Given the description of an element on the screen output the (x, y) to click on. 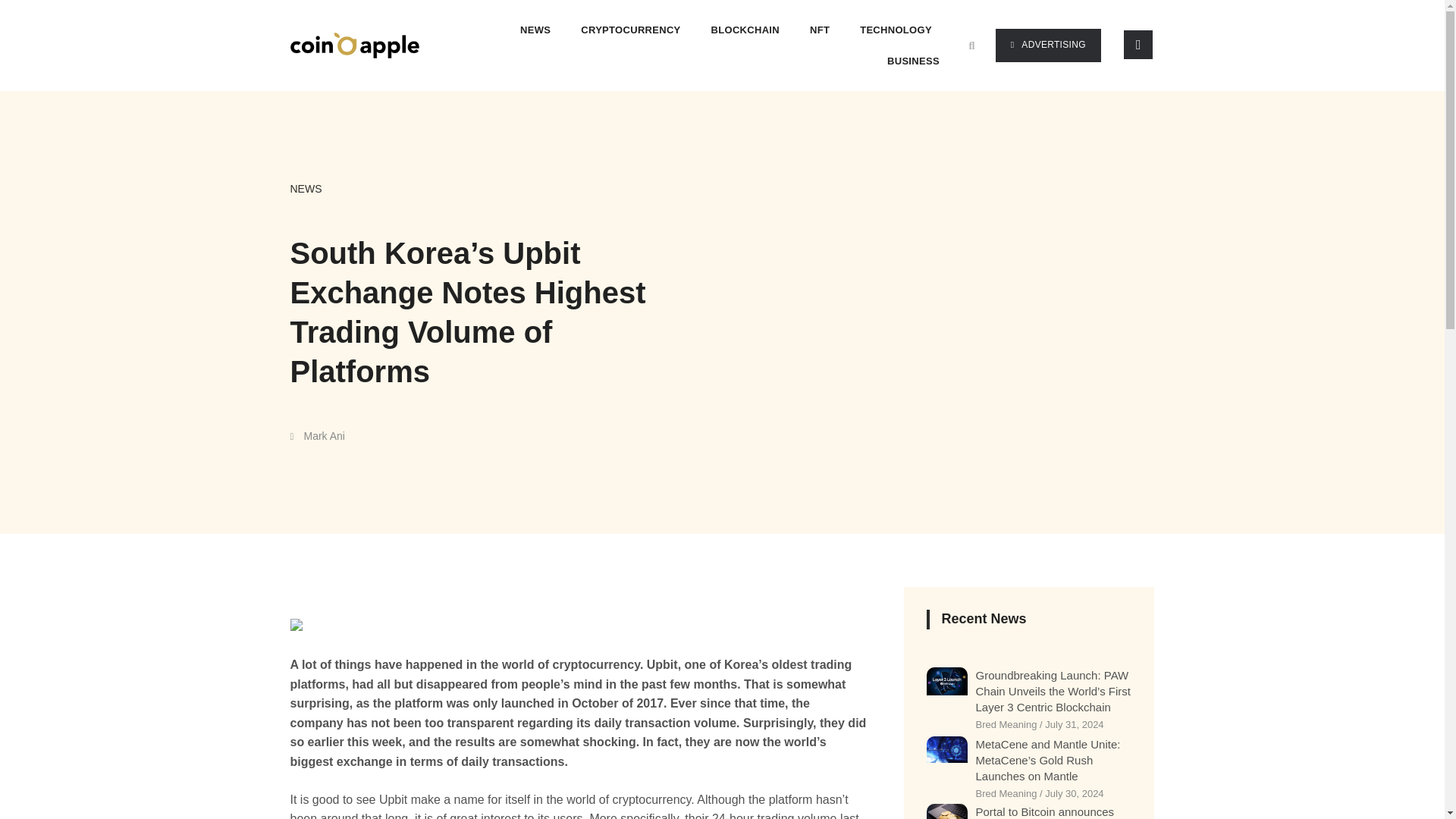
BLOCKCHAIN (745, 29)
NEWS (305, 188)
NEWS (534, 29)
BUSINESS (913, 60)
NFT (819, 29)
CRYPTOCURRENCY (630, 29)
ADVERTISING (1047, 45)
Mark Ani (316, 436)
TECHNOLOGY (895, 29)
